Given the description of an element on the screen output the (x, y) to click on. 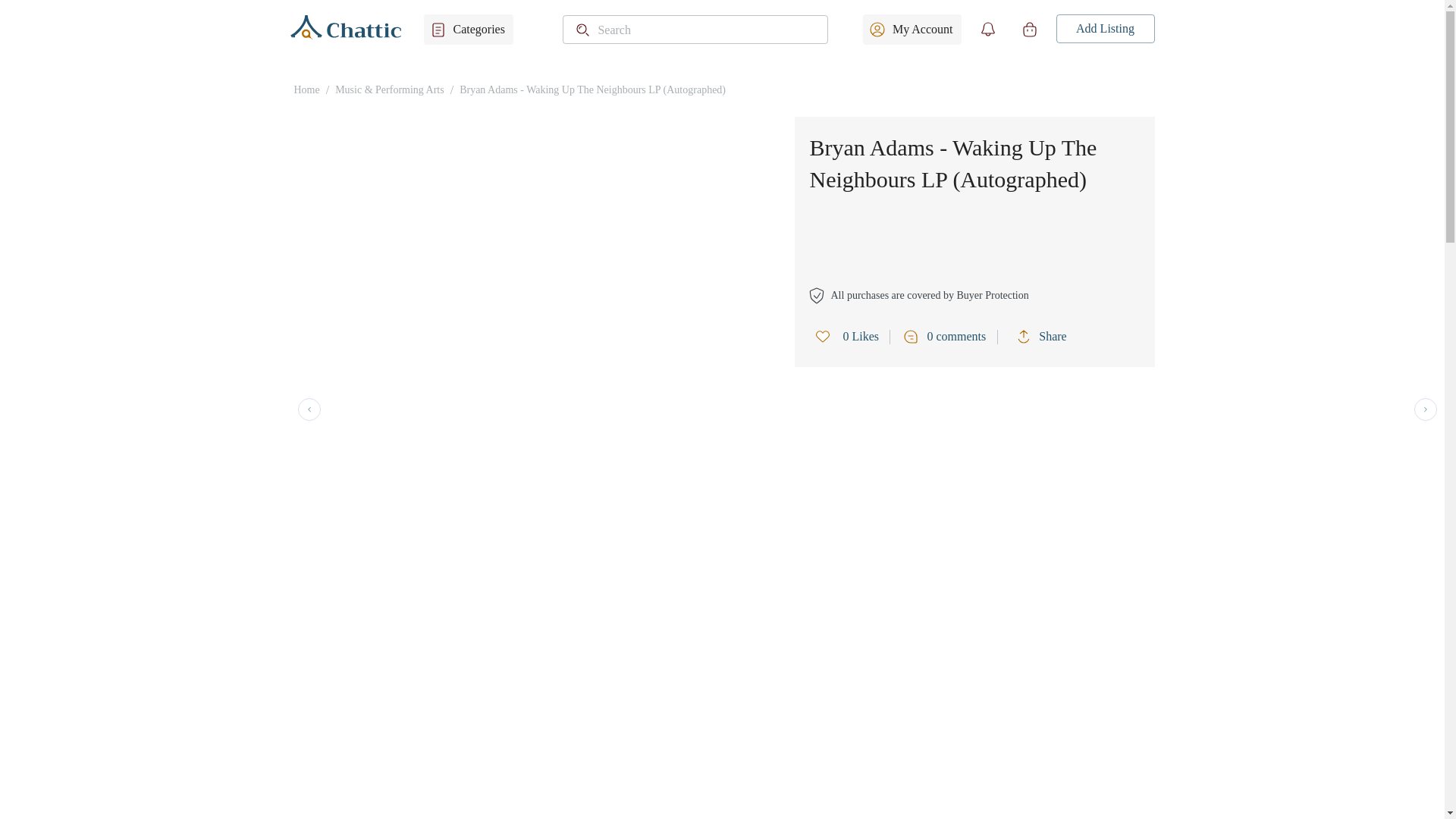
Share (1045, 336)
My Account (911, 29)
Add Listing (1104, 28)
Home (307, 89)
Categories (467, 29)
